Given the description of an element on the screen output the (x, y) to click on. 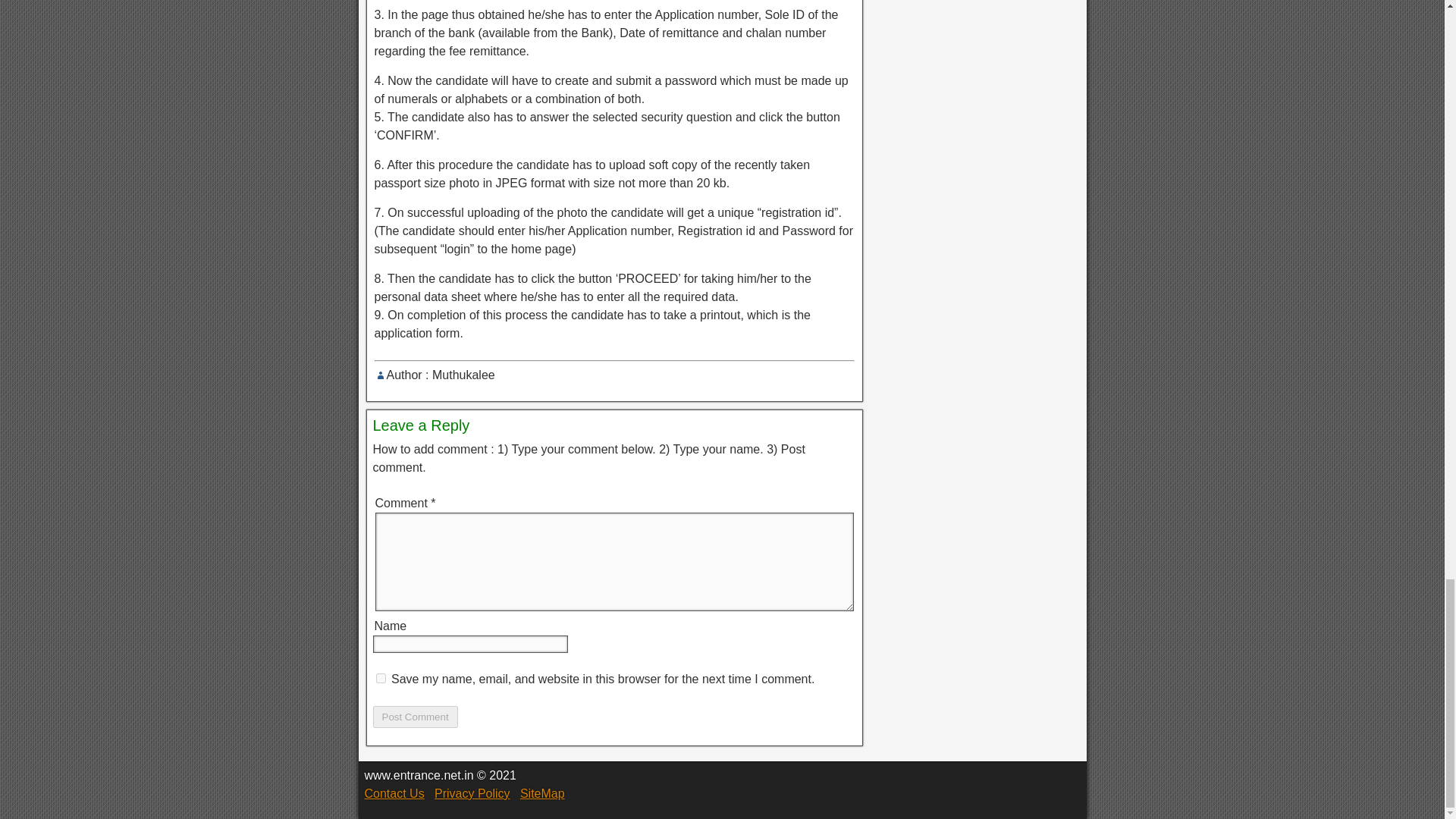
Post Comment (415, 716)
yes (380, 678)
SiteMap (541, 793)
Post Comment (415, 716)
Contact Us (393, 793)
Privacy Policy (472, 793)
